Given the description of an element on the screen output the (x, y) to click on. 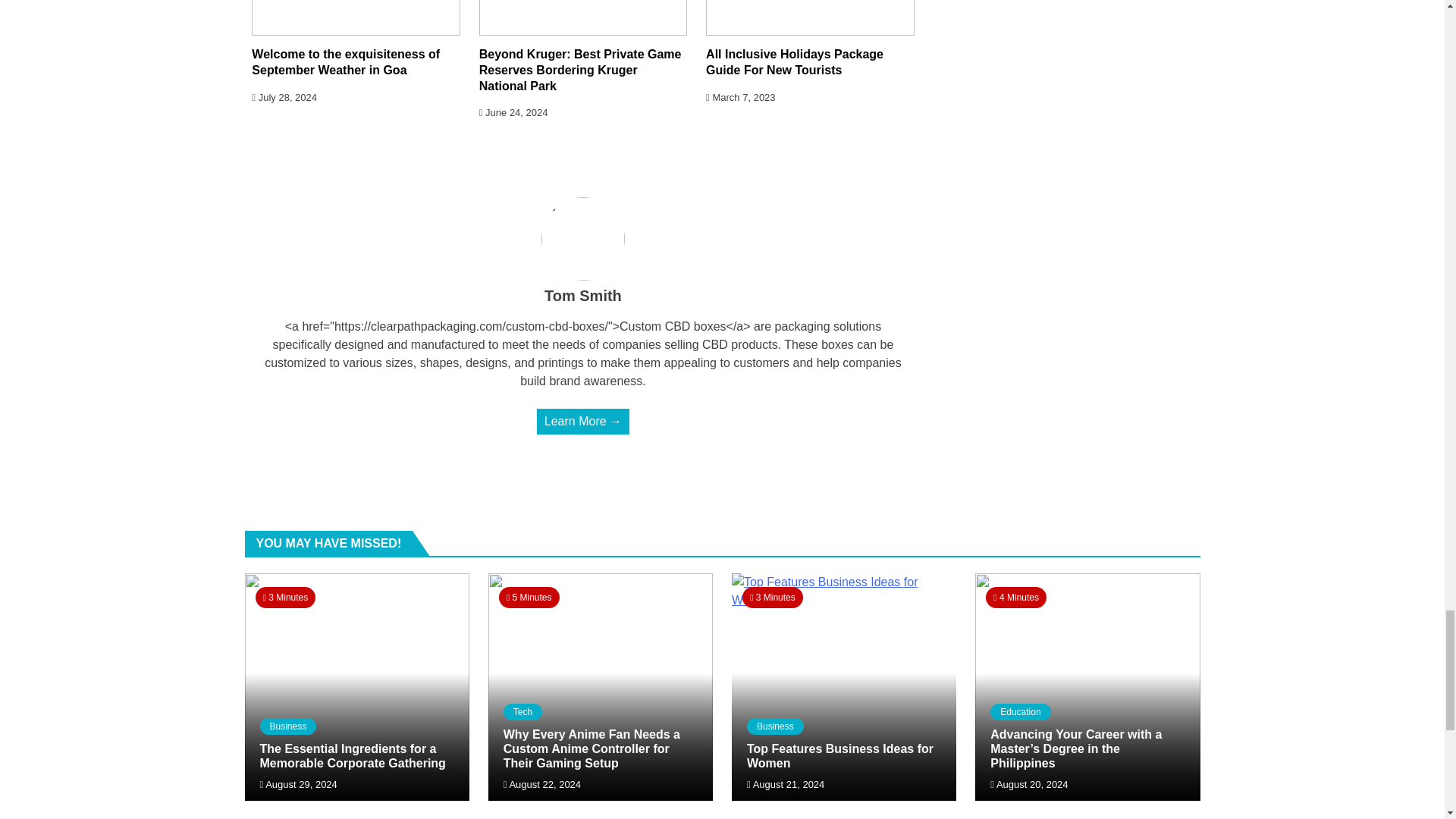
All Inclusive Holidays Package Guide For New Tourists (794, 61)
Estimated Reading Time of Article (1015, 597)
June 24, 2024 (513, 112)
July 28, 2024 (284, 97)
Welcome to the exquisiteness of September Weather in Goa (345, 61)
Estimated Reading Time of Article (772, 597)
March 7, 2023 (740, 97)
Estimated Reading Time of Article (529, 597)
Estimated Reading Time of Article (284, 597)
